Given the description of an element on the screen output the (x, y) to click on. 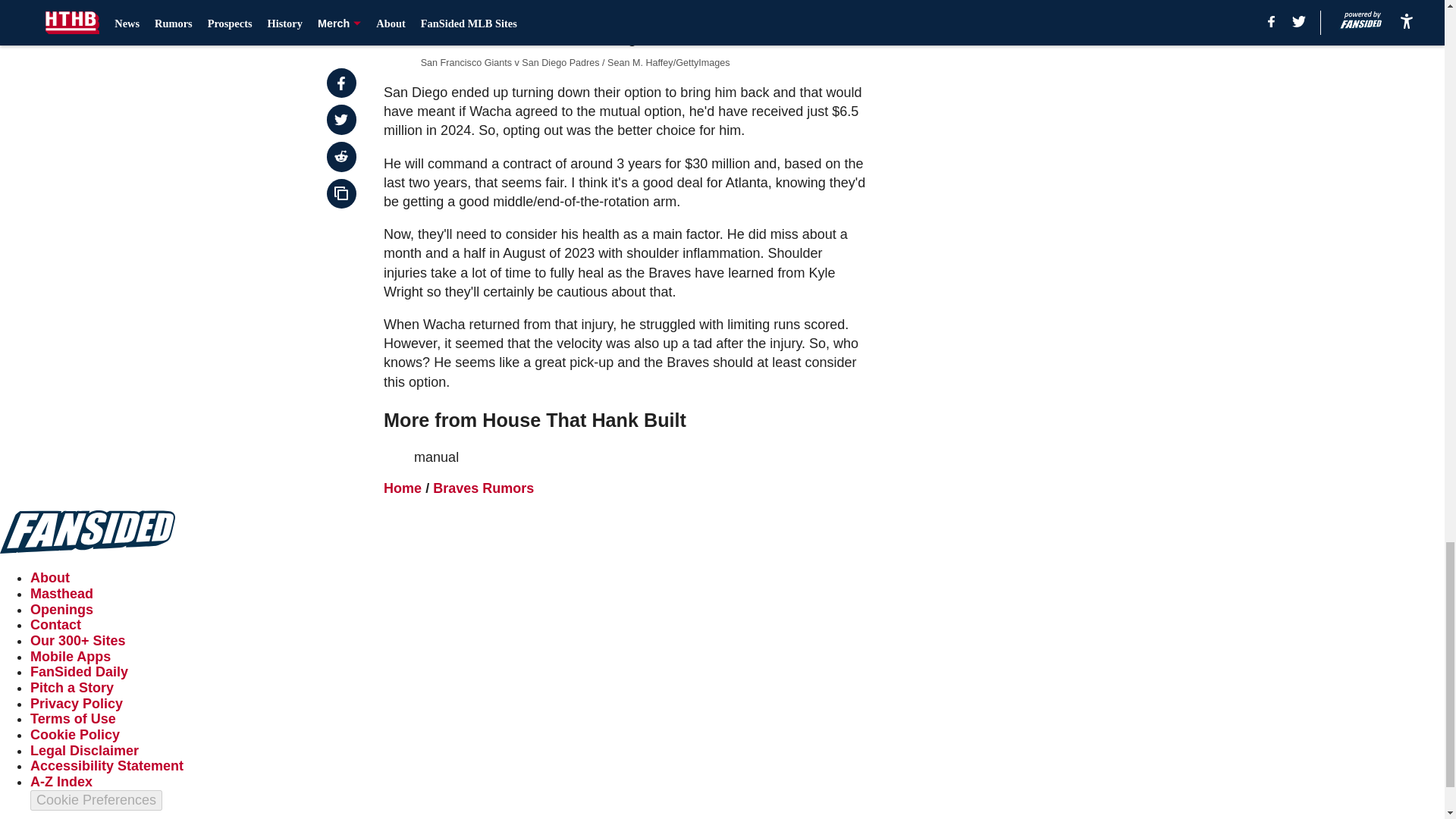
About (49, 577)
Openings (61, 609)
Mobile Apps (70, 656)
Home (403, 488)
Contact (55, 624)
Masthead (61, 593)
Braves Rumors (483, 488)
